Given the description of an element on the screen output the (x, y) to click on. 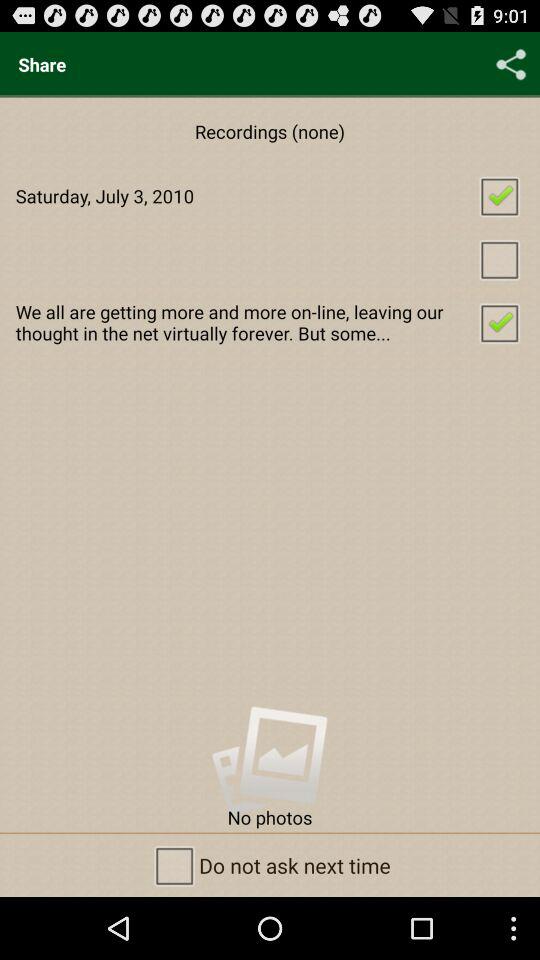
turn on the saturday july 3 item (269, 195)
